Given the description of an element on the screen output the (x, y) to click on. 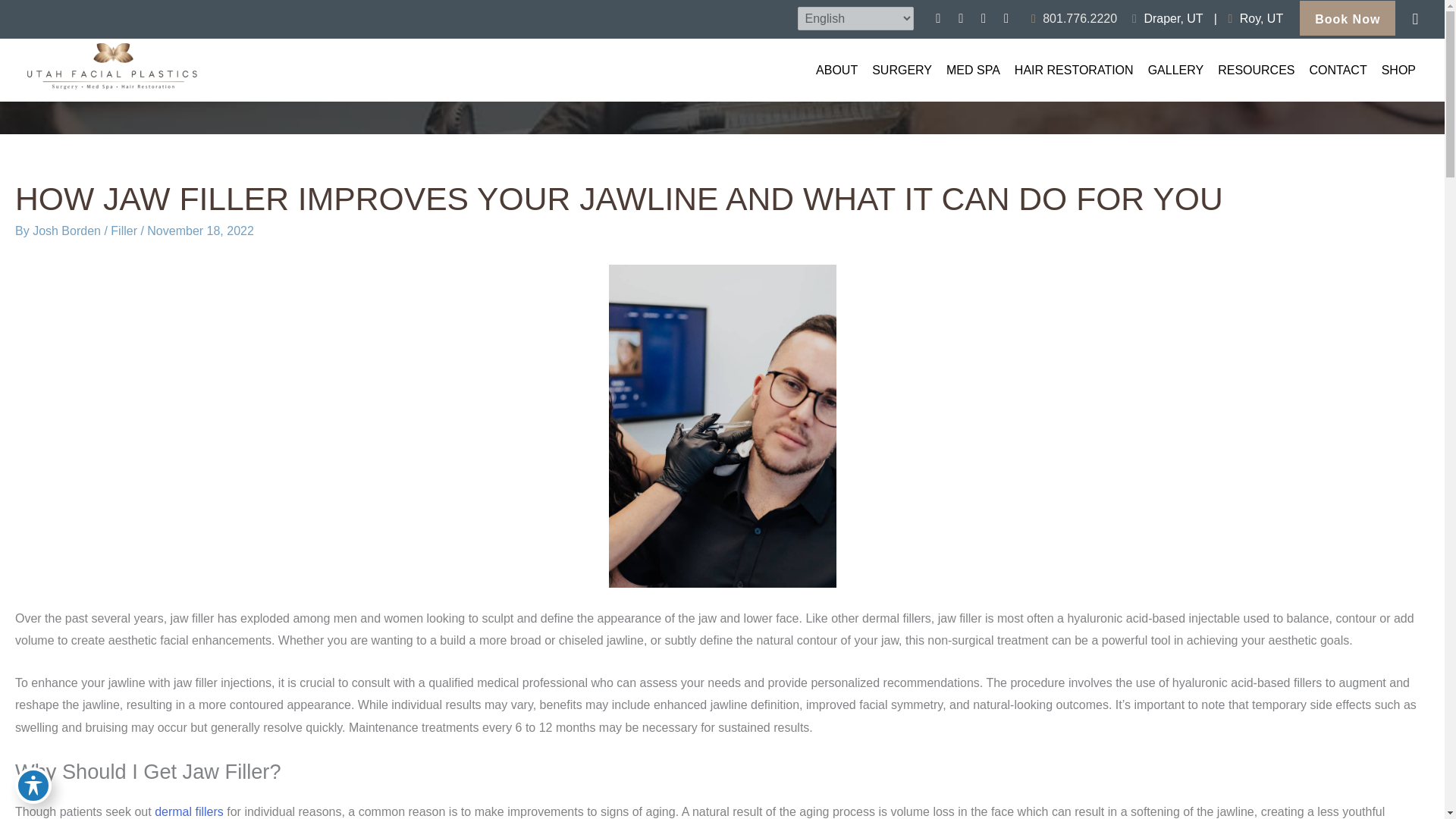
ABOUT (831, 69)
View all posts by Josh Borden (67, 230)
Book Now (1347, 18)
Draper, UT (1169, 18)
801.776.2220 (1073, 18)
Roy, UT (1254, 18)
